Given the description of an element on the screen output the (x, y) to click on. 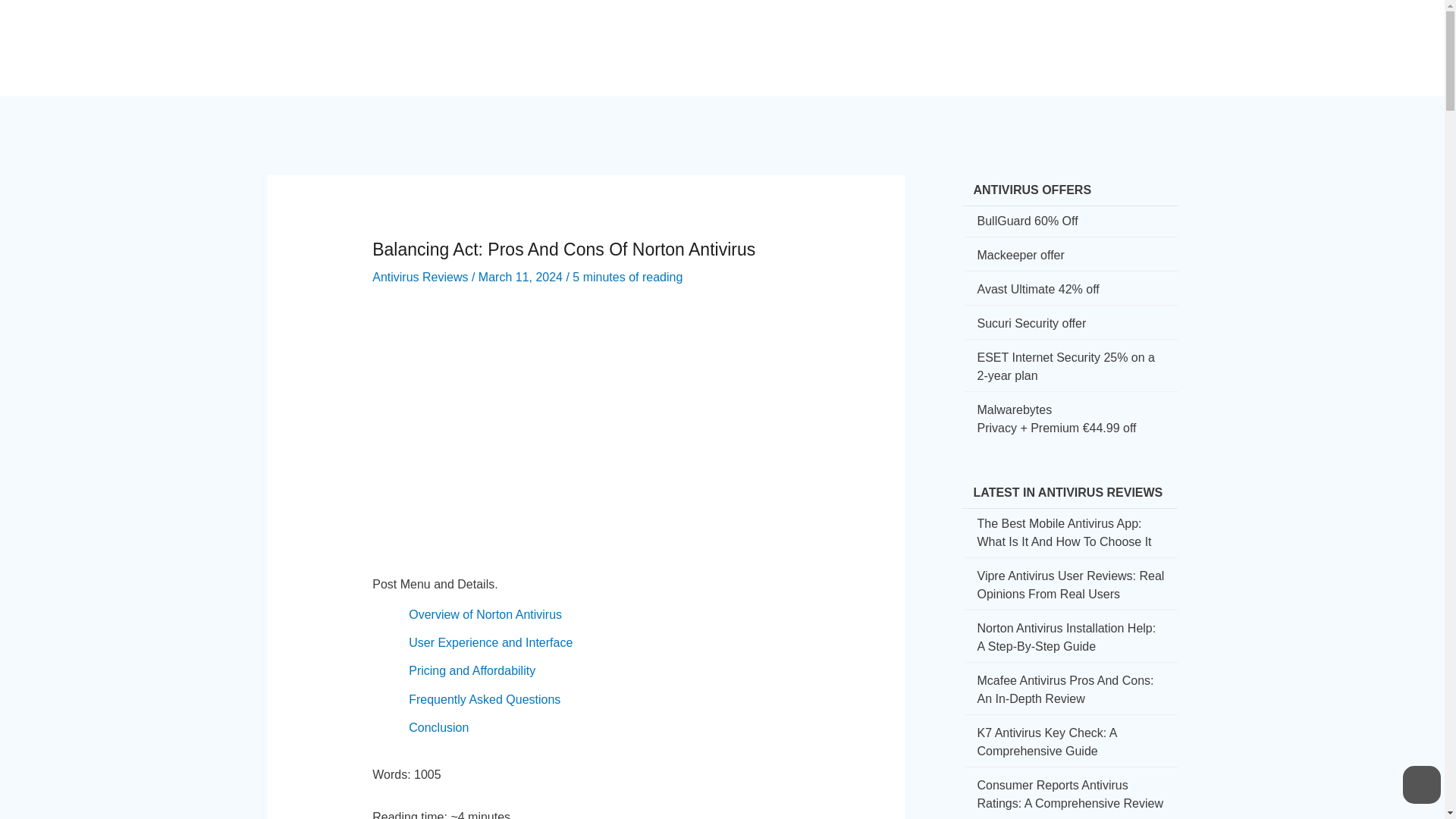
User Experience and Interface (490, 642)
Antivirus Reviews (419, 277)
Cyber Security (713, 35)
Misc (1122, 35)
Conclusion (438, 727)
10 Best (1064, 35)
Gaming (999, 35)
How-To (802, 35)
Social (863, 35)
Finances (929, 35)
Frequently Asked Questions (484, 698)
Overview of Norton Antivirus (485, 614)
Pricing and Affordability (472, 670)
